Given the description of an element on the screen output the (x, y) to click on. 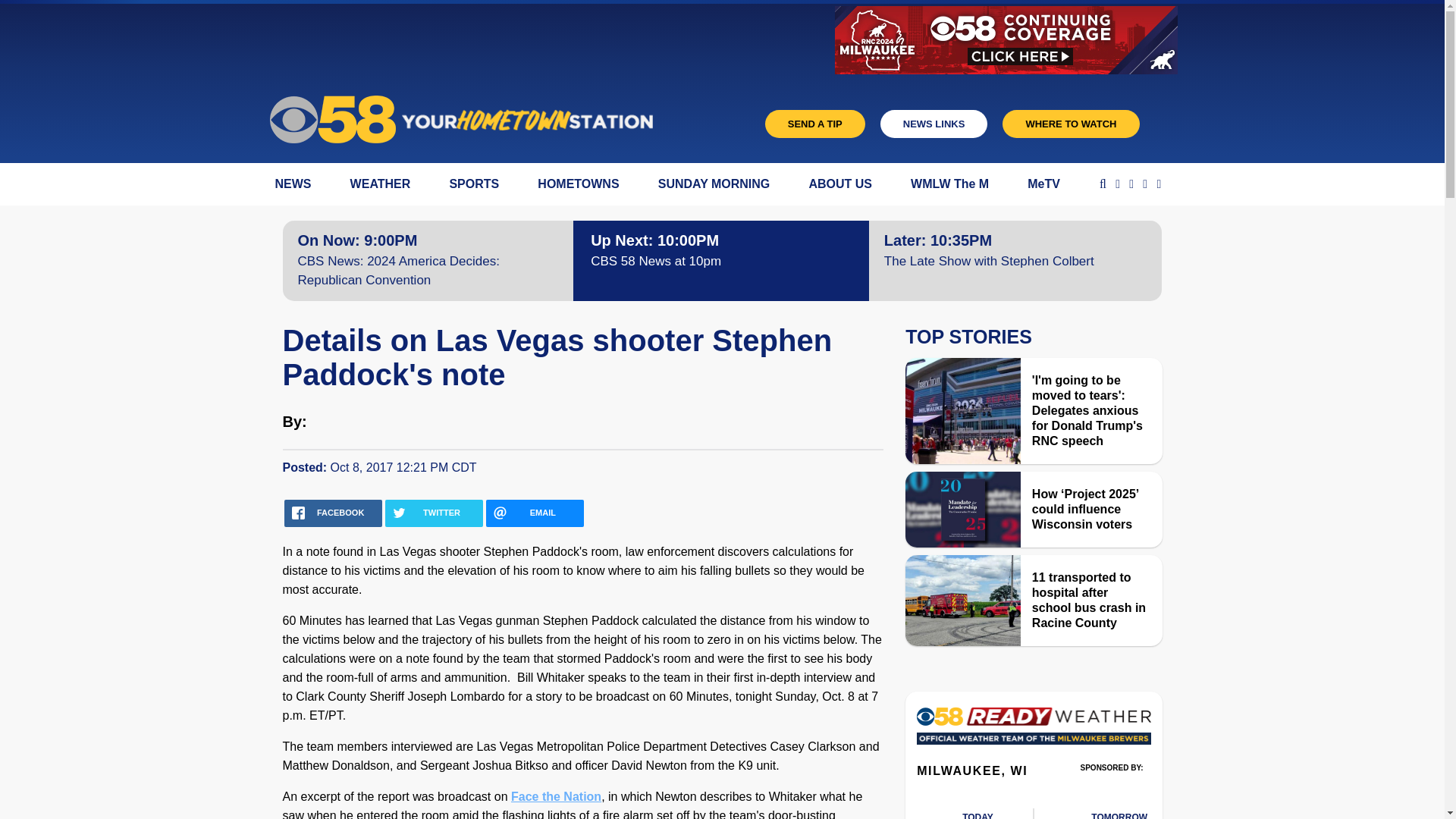
3rd party ad content (551, 41)
weather (1118, 813)
weather (987, 813)
3rd party ad content (1112, 789)
Weather (1033, 730)
